Given the description of an element on the screen output the (x, y) to click on. 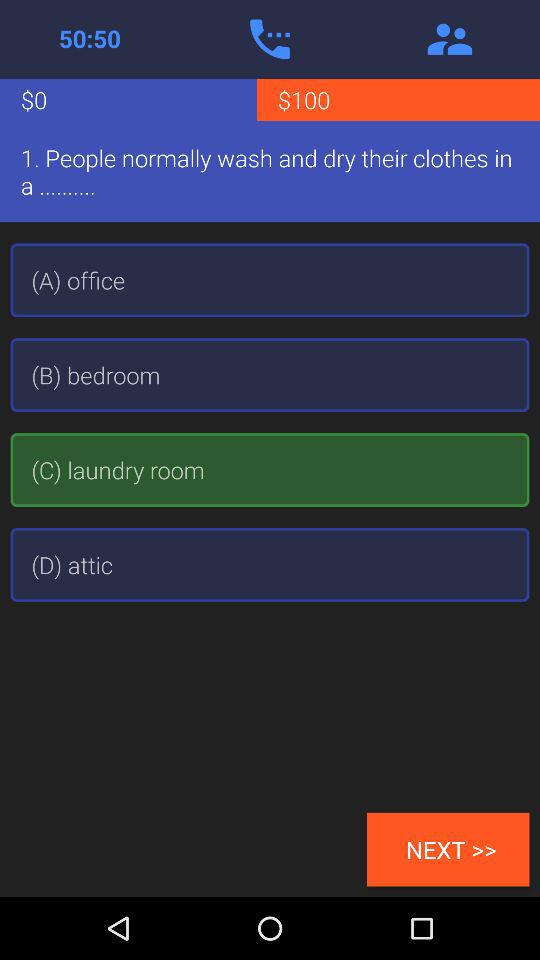
open phone (270, 39)
